Given the description of an element on the screen output the (x, y) to click on. 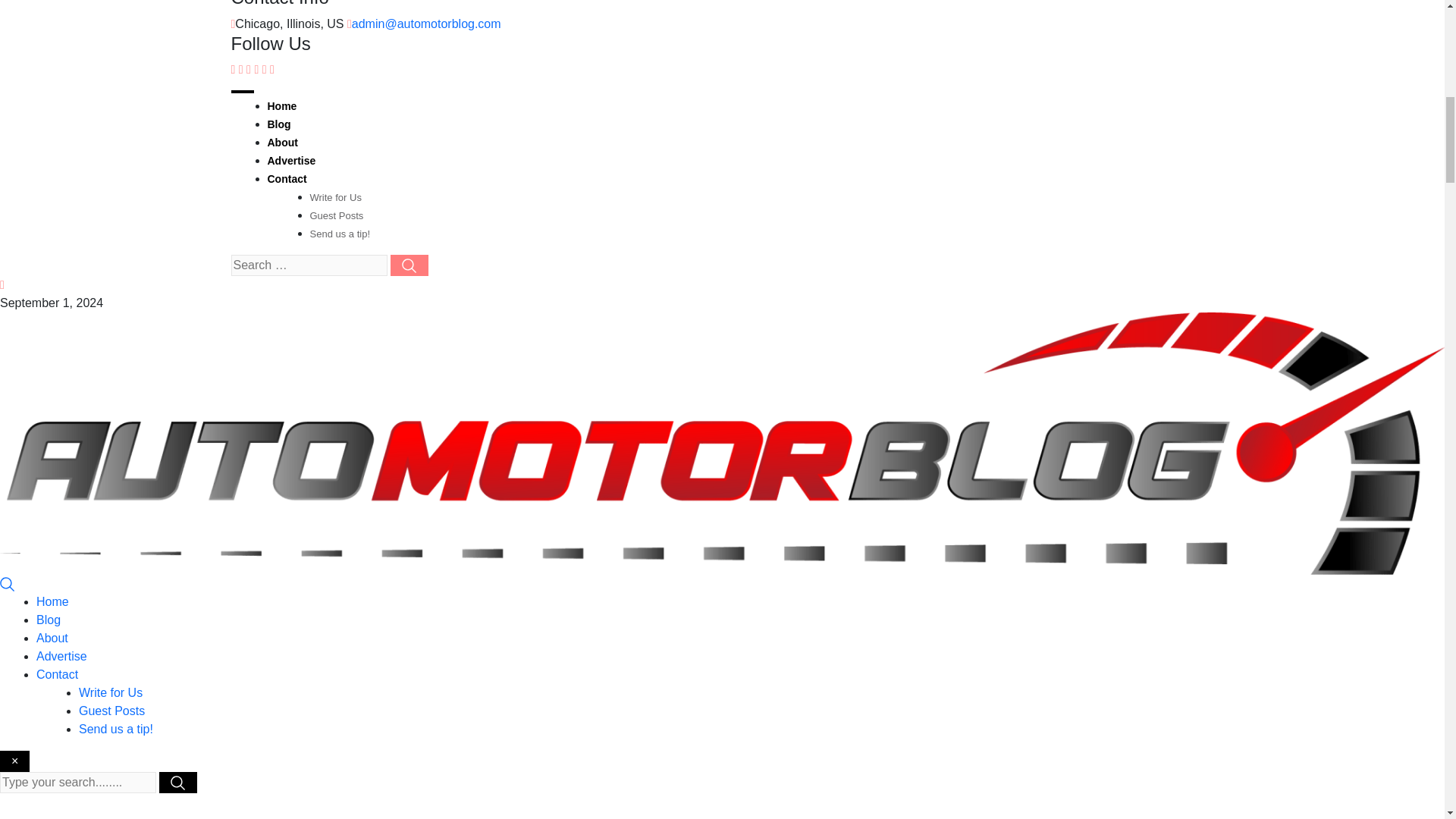
Write for Us (334, 197)
About (281, 142)
Home (52, 601)
About (52, 637)
Advertise (290, 160)
Write for Us (110, 692)
Contact (285, 178)
Guest Posts (111, 710)
